Given the description of an element on the screen output the (x, y) to click on. 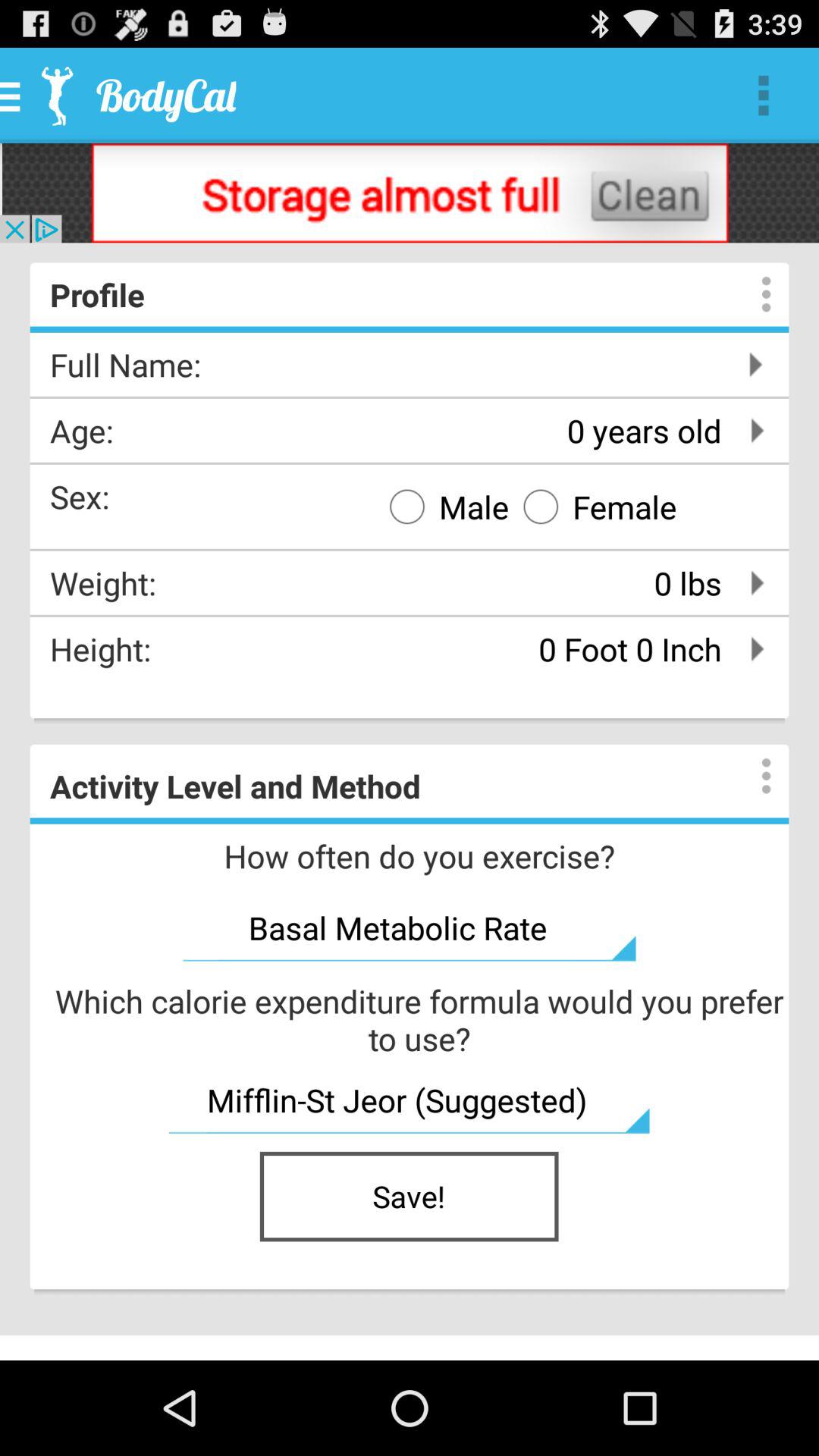
more options button (750, 776)
